Given the description of an element on the screen output the (x, y) to click on. 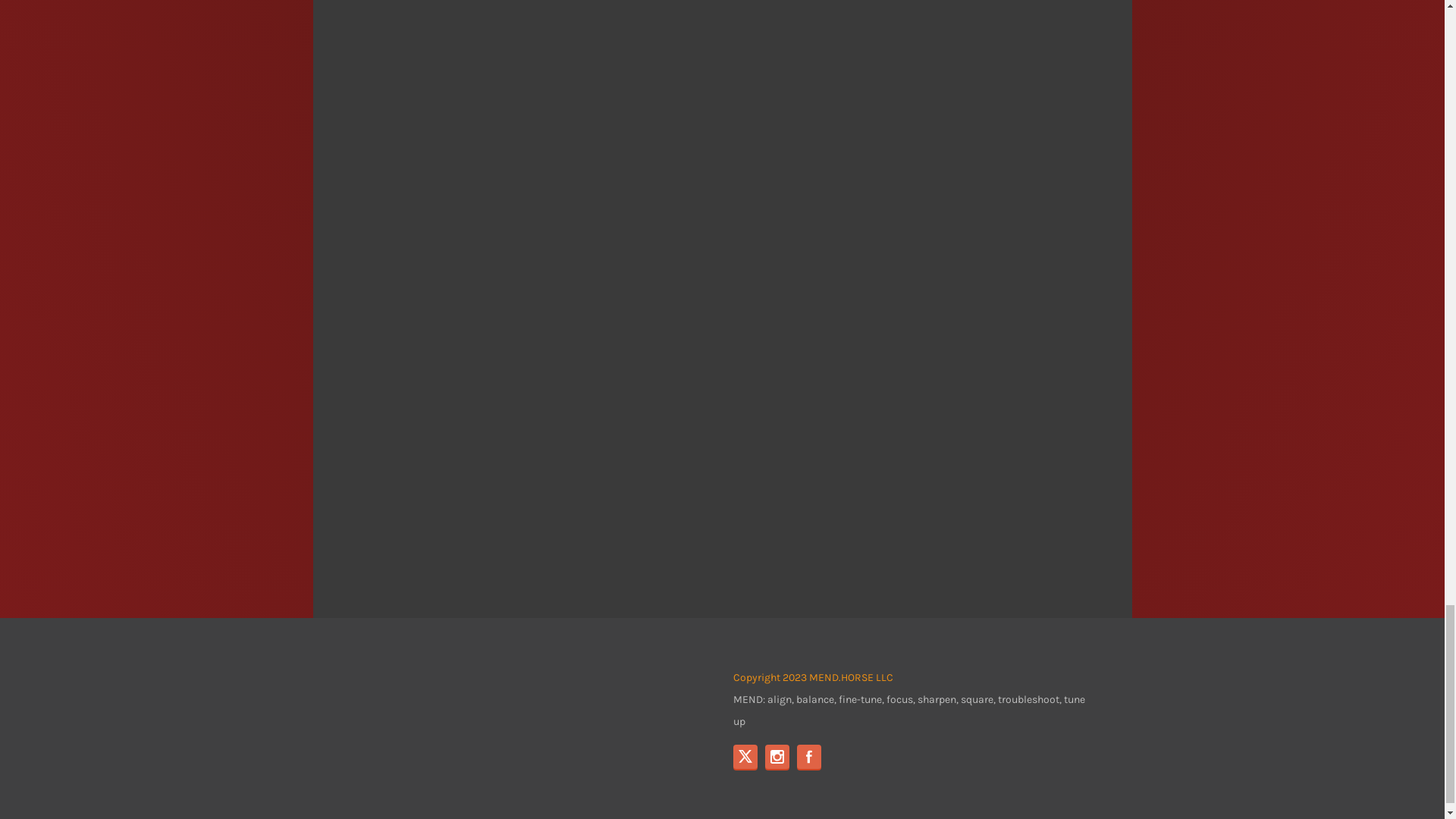
Facebook (808, 756)
Twitter (745, 756)
Instagram (777, 756)
